Given the description of an element on the screen output the (x, y) to click on. 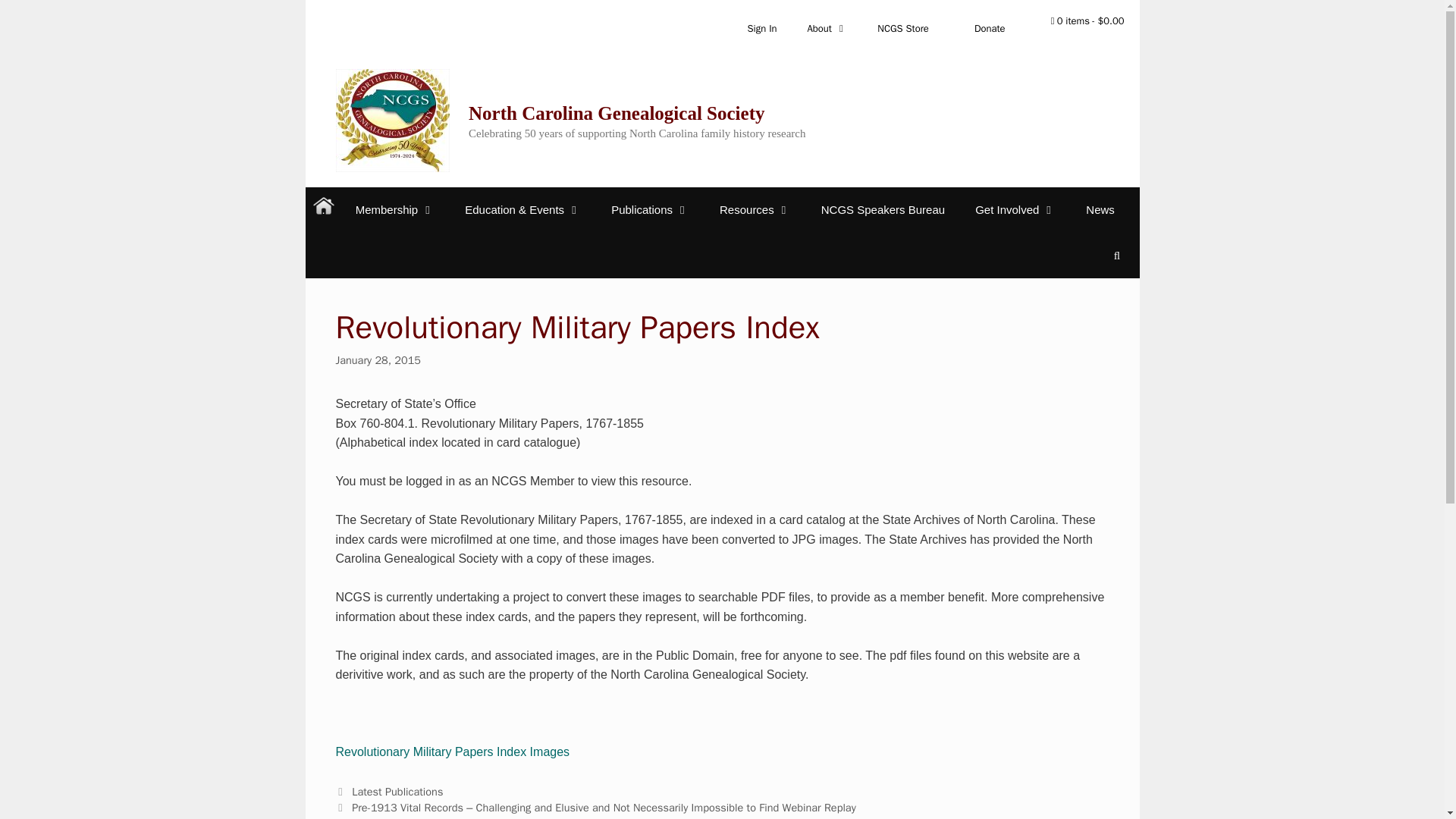
NCGS Speakers Bureau (882, 209)
Publications (649, 209)
Donate (989, 28)
Get Involved (1014, 209)
Membership (394, 209)
Resources (755, 209)
Sign In (762, 28)
North Carolina Genealogical Society (616, 113)
About (827, 28)
Start shopping (1087, 21)
